Given the description of an element on the screen output the (x, y) to click on. 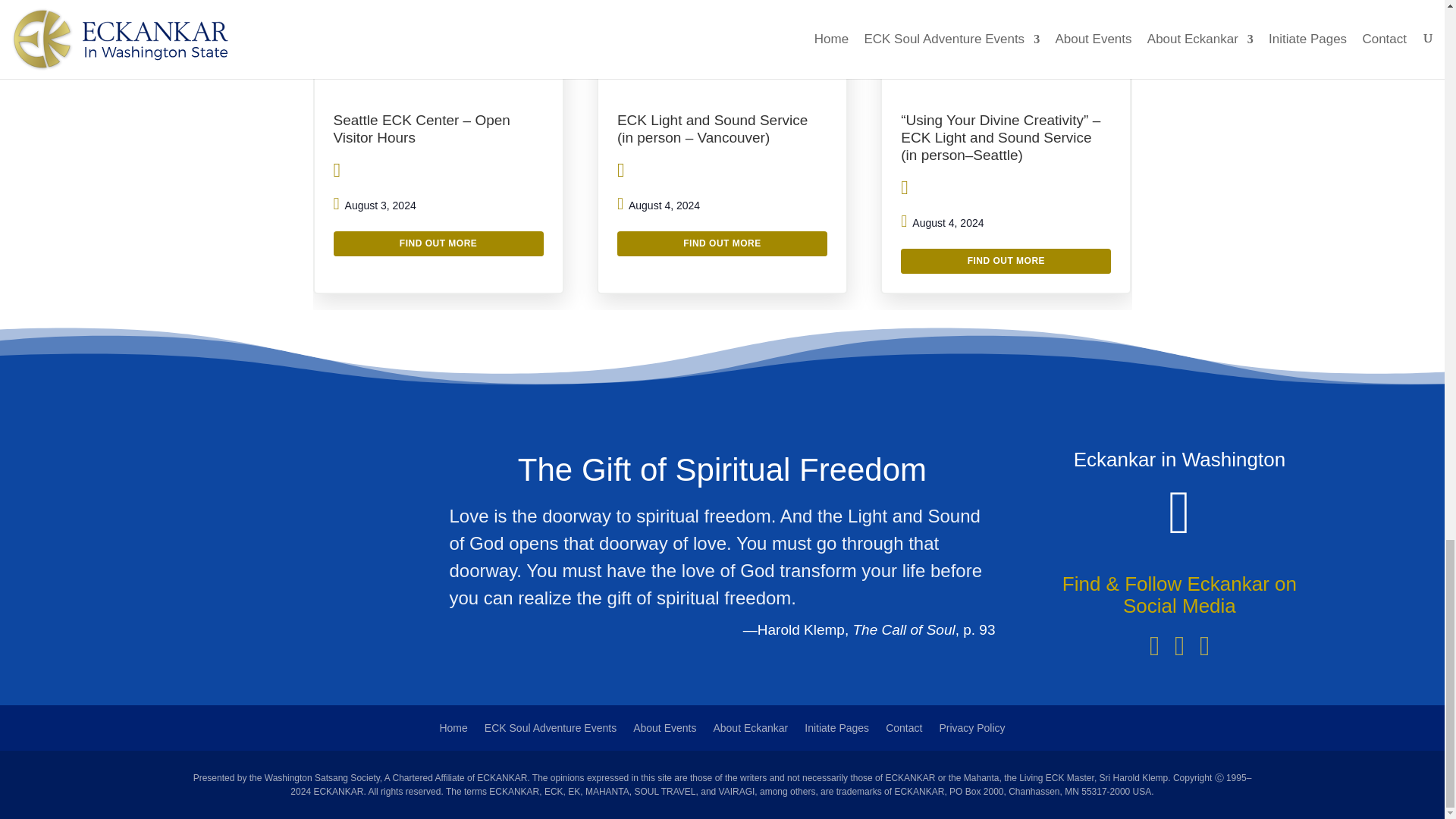
FIND OUT MORE (1005, 260)
About Events (664, 730)
FIND OUT MORE (722, 243)
FIND OUT MORE (438, 243)
Home (453, 730)
ECK Soul Adventure Events (549, 730)
